Given the description of an element on the screen output the (x, y) to click on. 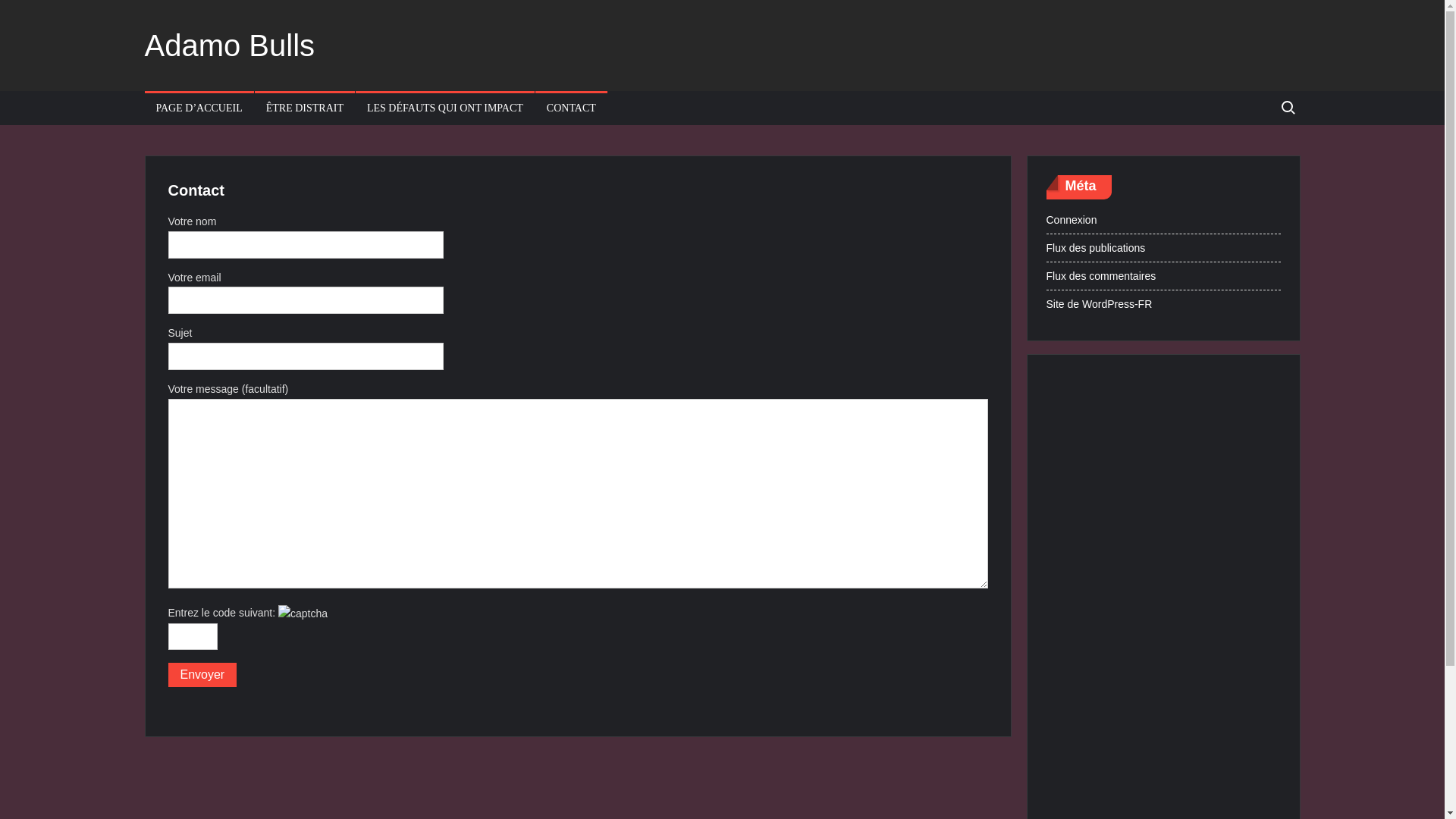
Search for: Element type: text (1286, 107)
Flux des commentaires Element type: text (1101, 275)
Adamo Bulls Element type: text (229, 45)
Site de WordPress-FR Element type: text (1099, 303)
CONTACT Element type: text (571, 108)
Envoyer Element type: text (202, 674)
Flux des publications Element type: text (1095, 247)
Connexion Element type: text (1071, 219)
